Given the description of an element on the screen output the (x, y) to click on. 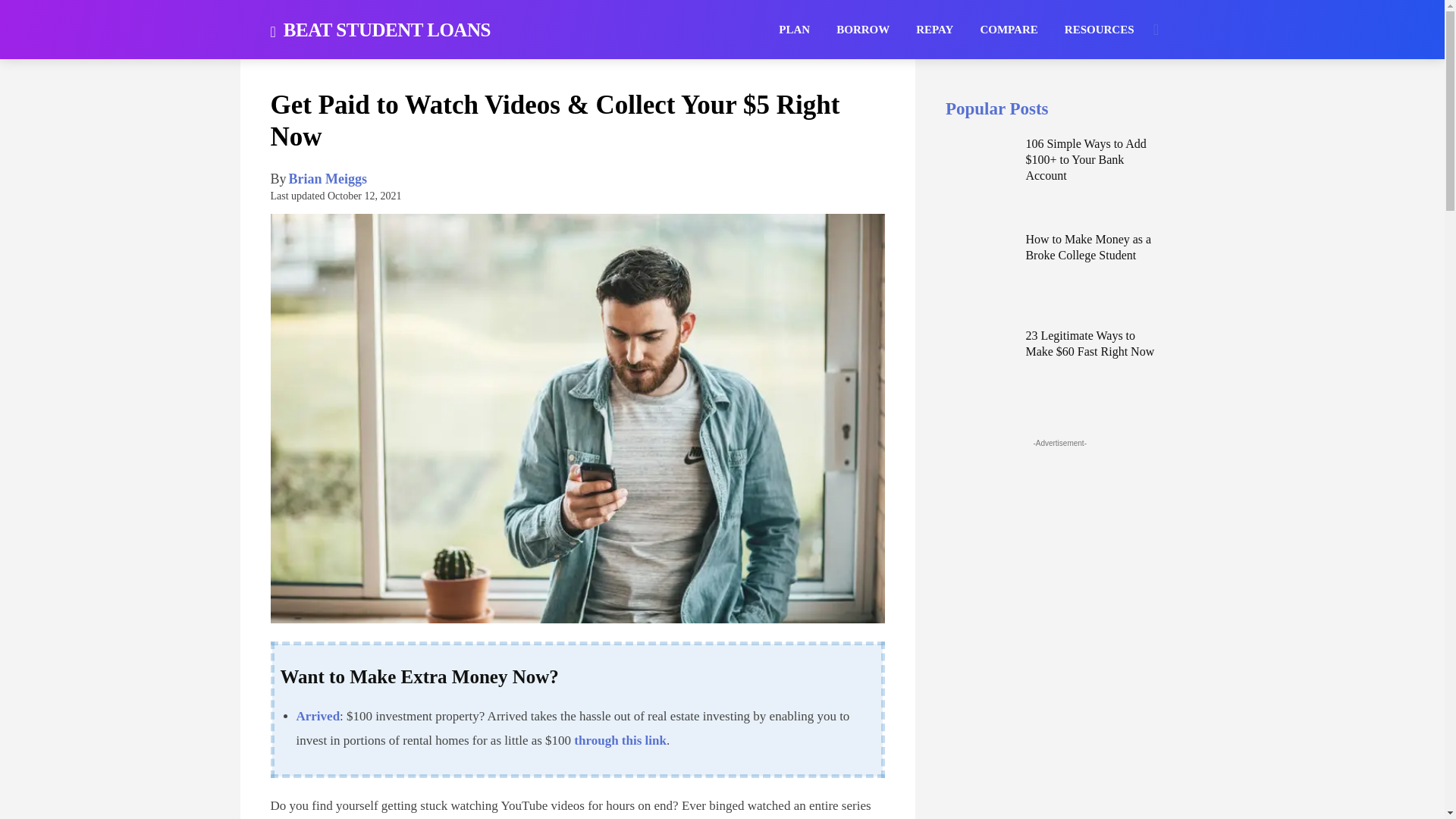
BORROW (862, 29)
PLAN (793, 29)
BEAT STUDENT LOANS (379, 28)
